Given the description of an element on the screen output the (x, y) to click on. 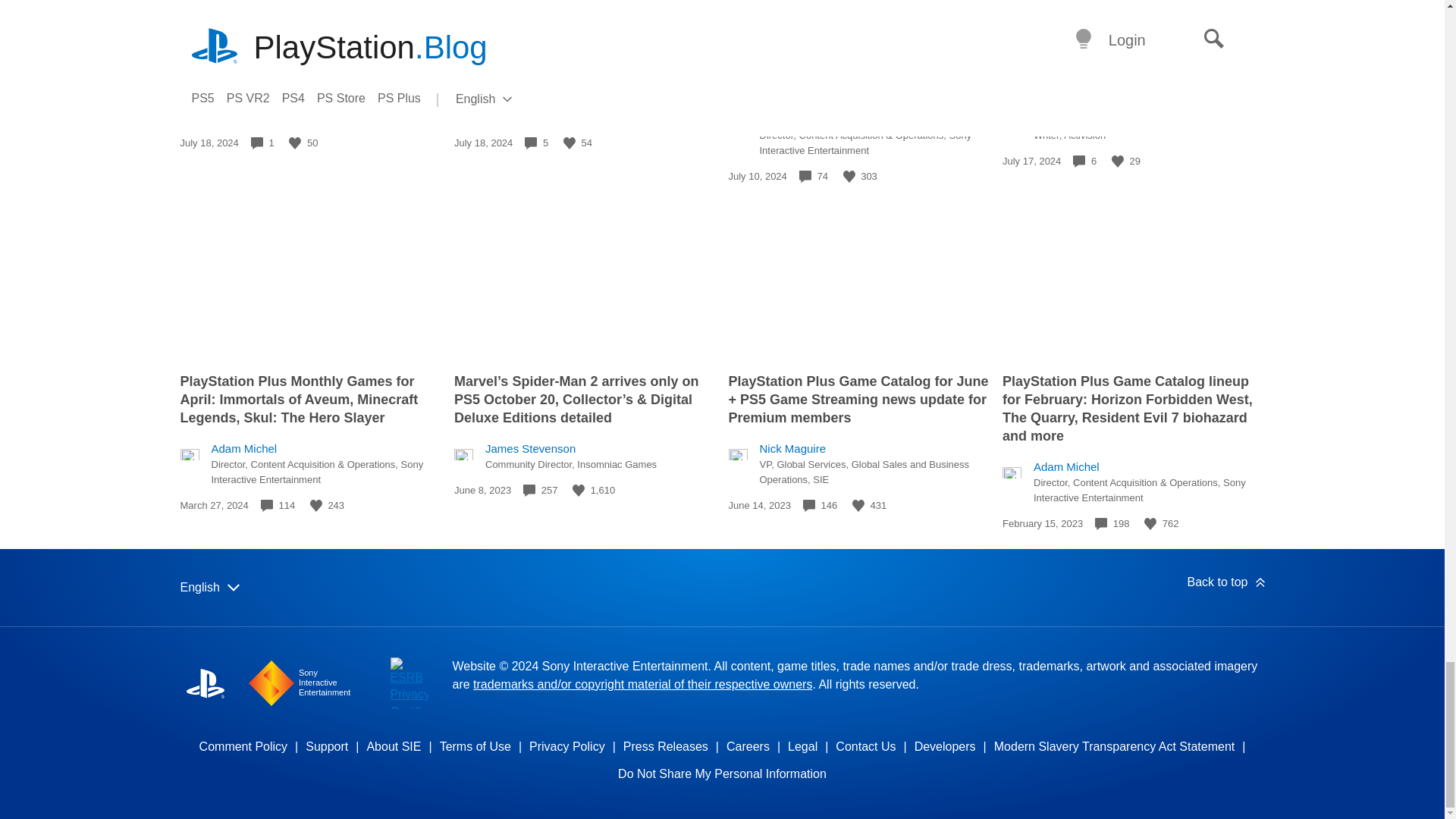
Like this (294, 143)
Like this (849, 176)
Like this (569, 143)
Like this (1118, 161)
